Given the description of an element on the screen output the (x, y) to click on. 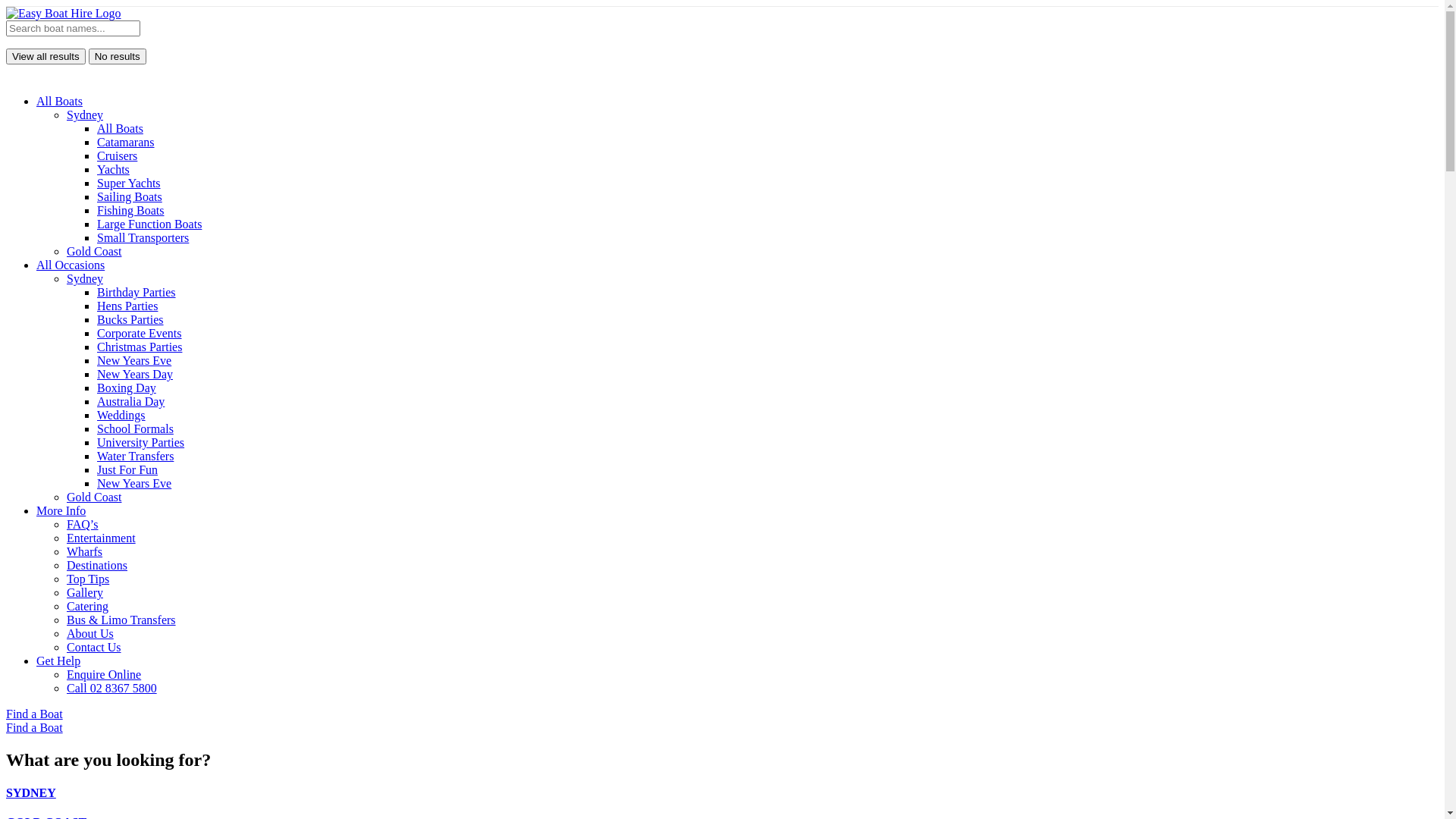
Bucks Parties Element type: text (130, 319)
Cruisers Element type: text (117, 155)
More Info Element type: text (60, 510)
Contact Us Element type: text (93, 646)
No results Element type: text (117, 56)
All Occasions Element type: text (70, 264)
Entertainment Element type: text (100, 537)
All Boats Element type: text (59, 100)
Get Help Element type: text (58, 660)
Wharfs Element type: text (84, 551)
Gold Coast Element type: text (93, 496)
Enquire Online Element type: text (103, 674)
SYDNEY Element type: text (722, 793)
About Us Element type: text (89, 633)
Gallery Element type: text (84, 592)
School Formals Element type: text (135, 428)
Catering Element type: text (87, 605)
Christmas Parties Element type: text (139, 346)
Water Transfers Element type: text (135, 455)
Top Tips Element type: text (87, 578)
Find a Boat Element type: text (34, 713)
Weddings Element type: text (121, 414)
Birthday Parties Element type: text (136, 291)
Super Yachts Element type: text (128, 182)
New Years Eve Element type: text (134, 482)
Hens Parties Element type: text (127, 305)
Boxing Day Element type: text (126, 387)
Find a Boat Element type: text (34, 727)
Bus & Limo Transfers Element type: text (120, 619)
Sailing Boats Element type: text (129, 196)
New Years Day Element type: text (134, 373)
Fishing Boats Element type: text (130, 209)
Large Function Boats Element type: text (149, 223)
Gold Coast Element type: text (93, 250)
Catamarans Element type: text (125, 141)
Yachts Element type: text (113, 169)
Sydney Element type: text (84, 114)
New Years Eve Element type: text (134, 360)
Destinations Element type: text (96, 564)
Corporate Events Element type: text (139, 332)
All Boats Element type: text (120, 128)
Australia Day Element type: text (130, 401)
University Parties Element type: text (140, 442)
Call 02 8367 5800 Element type: text (111, 687)
Small Transporters Element type: text (142, 237)
Sydney Element type: text (84, 278)
Just For Fun Element type: text (127, 469)
View all results Element type: text (45, 56)
